Given the description of an element on the screen output the (x, y) to click on. 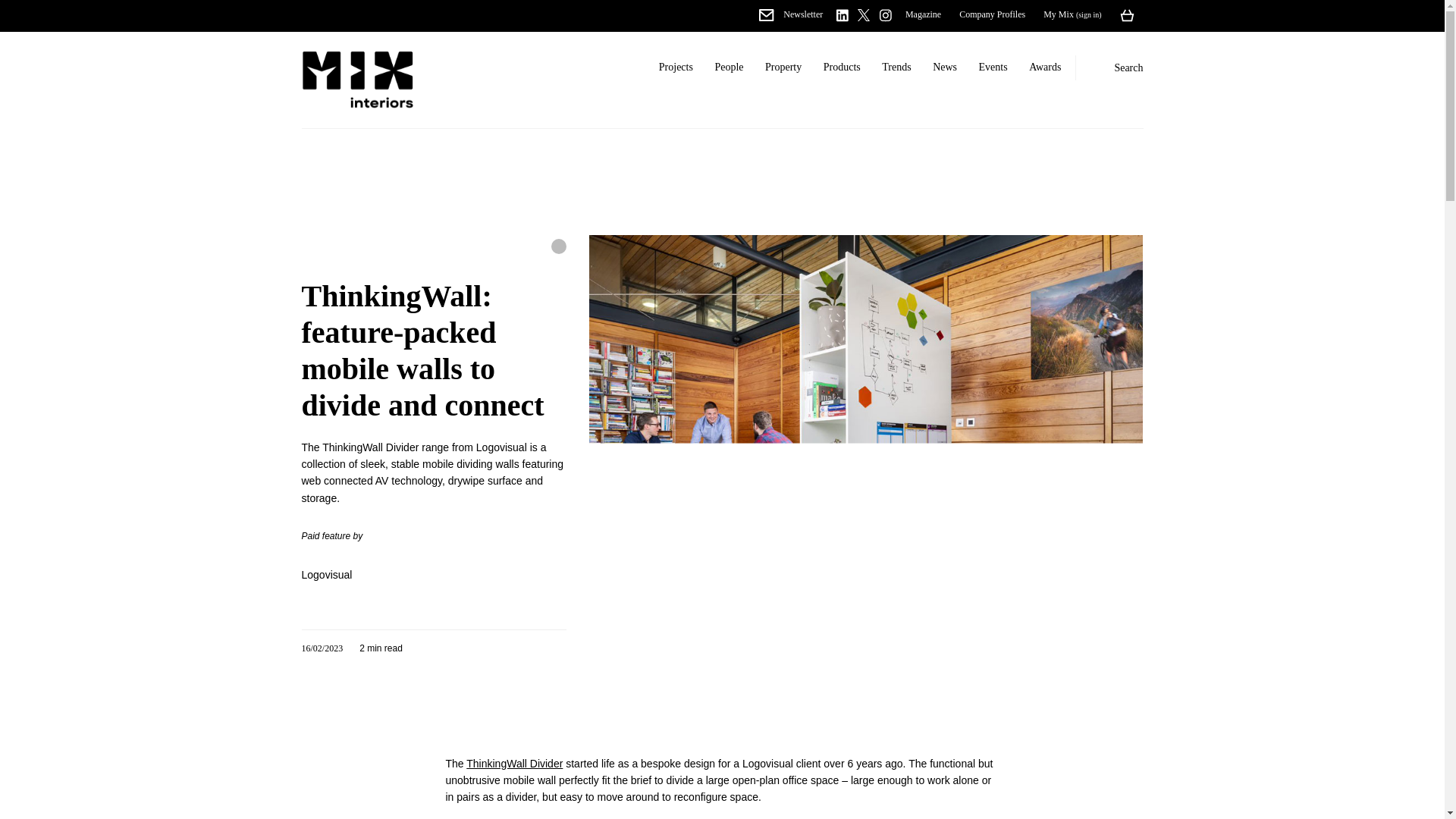
Awards (1045, 67)
Newsletter (790, 14)
Search (1116, 68)
Property (782, 67)
Magazine (923, 14)
Projects (675, 67)
Products (841, 67)
Company Profiles (991, 14)
